Given the description of an element on the screen output the (x, y) to click on. 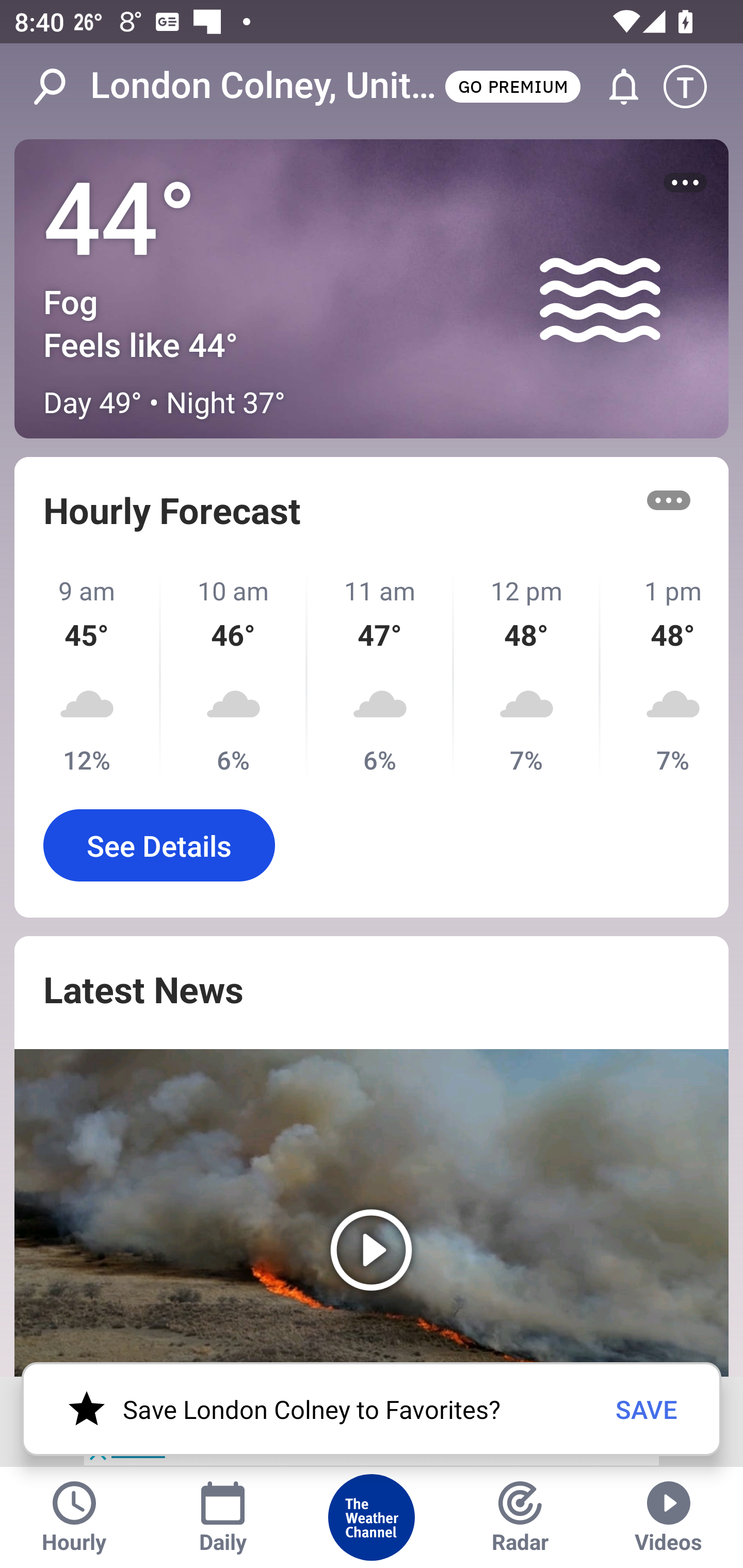
Search (59, 86)
Go to Alerts and Notifications (614, 86)
Setting icon T (694, 86)
London Colney, United Kingdom (265, 85)
GO PREMIUM (512, 85)
More options (684, 182)
More options (668, 500)
9 am 45° 12% (87, 674)
10 am 46° 6% (234, 674)
11 am 47° 6% (380, 674)
12 pm 48° 7% (526, 674)
1 pm 48° 7% (664, 674)
See Details (158, 845)
Play (371, 1212)
Save London Colney to Favorites? SAVE (371, 1409)
SAVE (646, 1408)
Hourly Tab Hourly (74, 1517)
Daily Tab Daily (222, 1517)
Radar Tab Radar (519, 1517)
Videos Tab Videos (668, 1517)
